Given the description of an element on the screen output the (x, y) to click on. 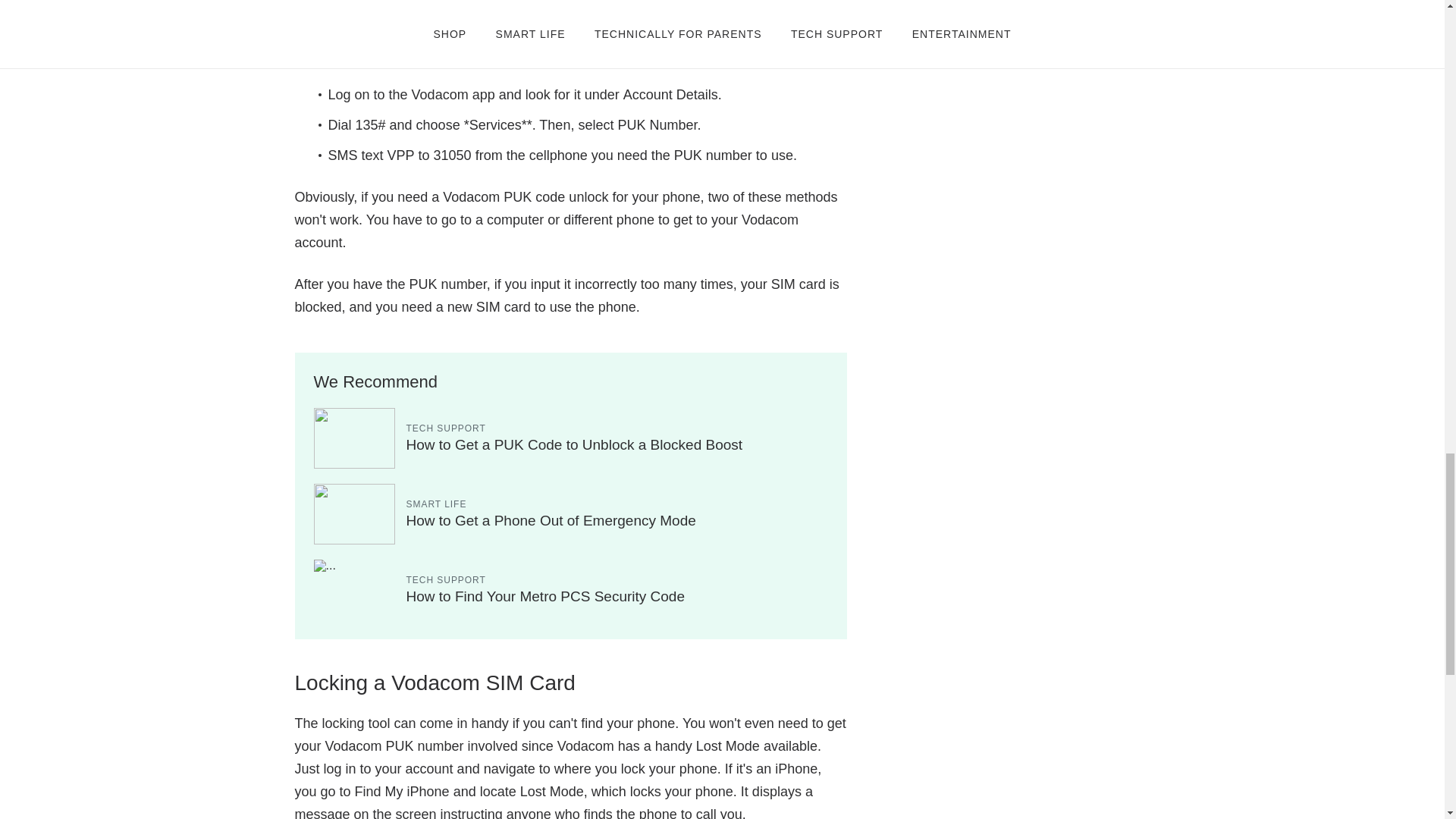
How to Get a Phone Out of Emergency Mode (550, 520)
How to Find Your Metro PCS Security Code (545, 596)
How to Get a PUK Code to Unblock a Blocked Boost (574, 444)
